Given the description of an element on the screen output the (x, y) to click on. 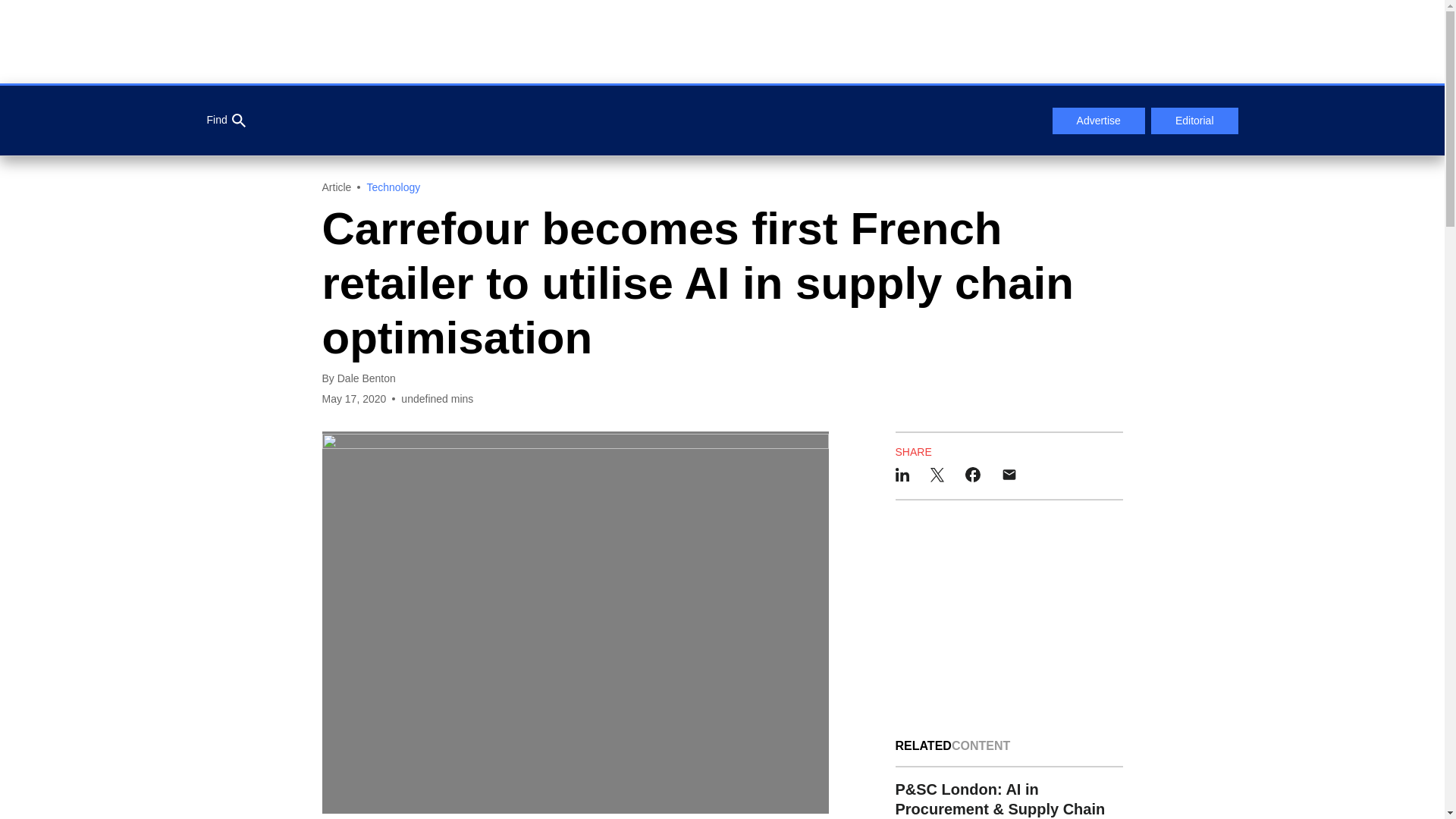
Editorial (1195, 121)
Advertise (1098, 121)
Find (225, 120)
